Given the description of an element on the screen output the (x, y) to click on. 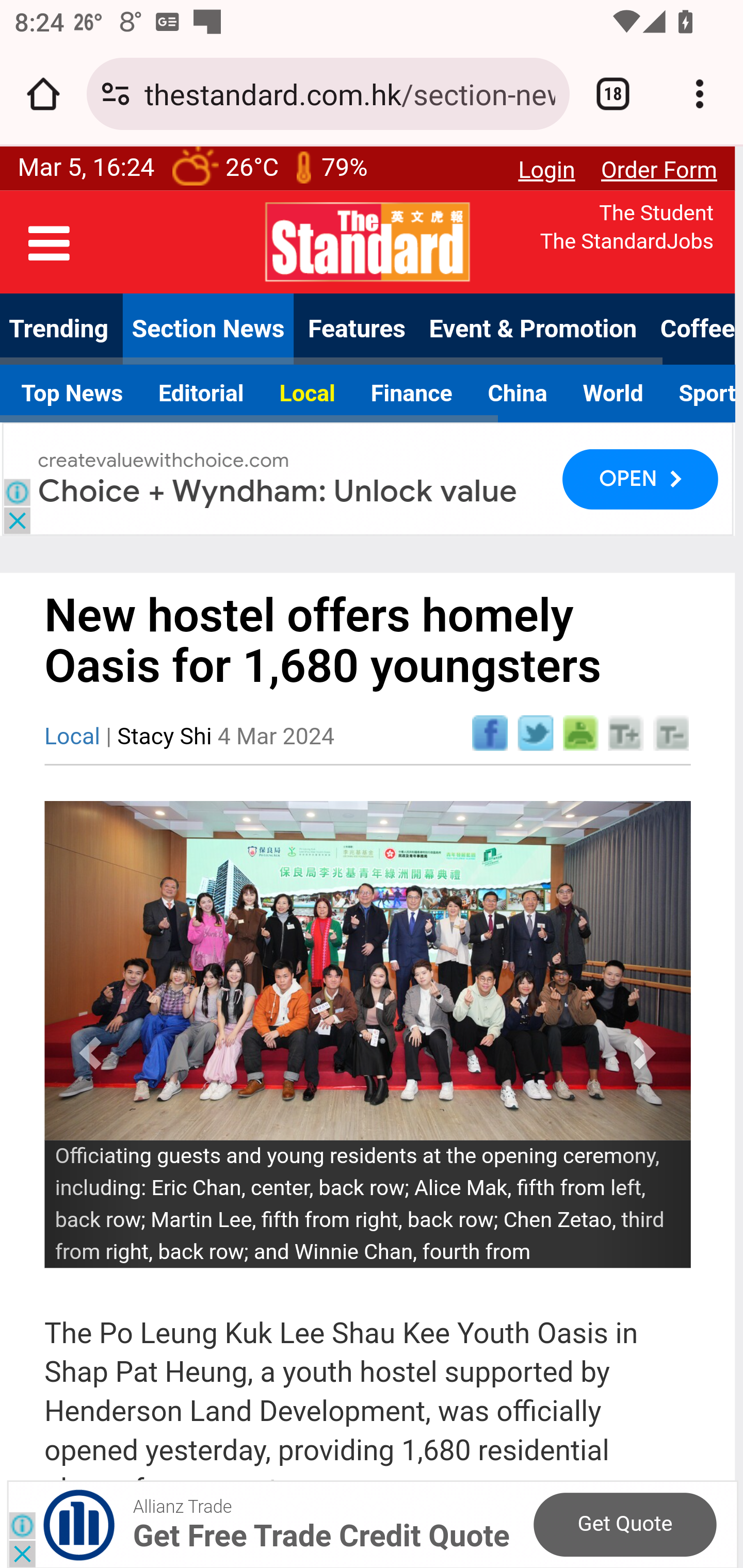
Open the home page (43, 93)
Connection is secure (115, 93)
Switch or close tabs (612, 93)
Customize and control Google Chrome (699, 93)
Login (545, 169)
Order Form (658, 169)
The Standard (366, 241)
The Student (656, 213)
 (49, 244)
The StandardJobs (626, 241)
Trending (59, 329)
Section News (208, 329)
Features (356, 329)
Event & Promotion (532, 329)
Coffee Break (692, 329)
Top News (71, 392)
Editorial (200, 392)
Local (307, 392)
Finance (410, 392)
China (517, 392)
World (613, 392)
Sports (697, 392)
createvaluewithchoice.com (164, 460)
OPEN (639, 478)
Choice + Wyndham: Unlock value (277, 490)
Facebook (489, 732)
twitter (534, 732)
Print (579, 732)
Font (625, 732)
Font (671, 732)
Local (71, 736)
Get Quote (624, 1524)
Allianz Trade (180, 1507)
Get Free Trade Credit Quote (320, 1536)
